Given the description of an element on the screen output the (x, y) to click on. 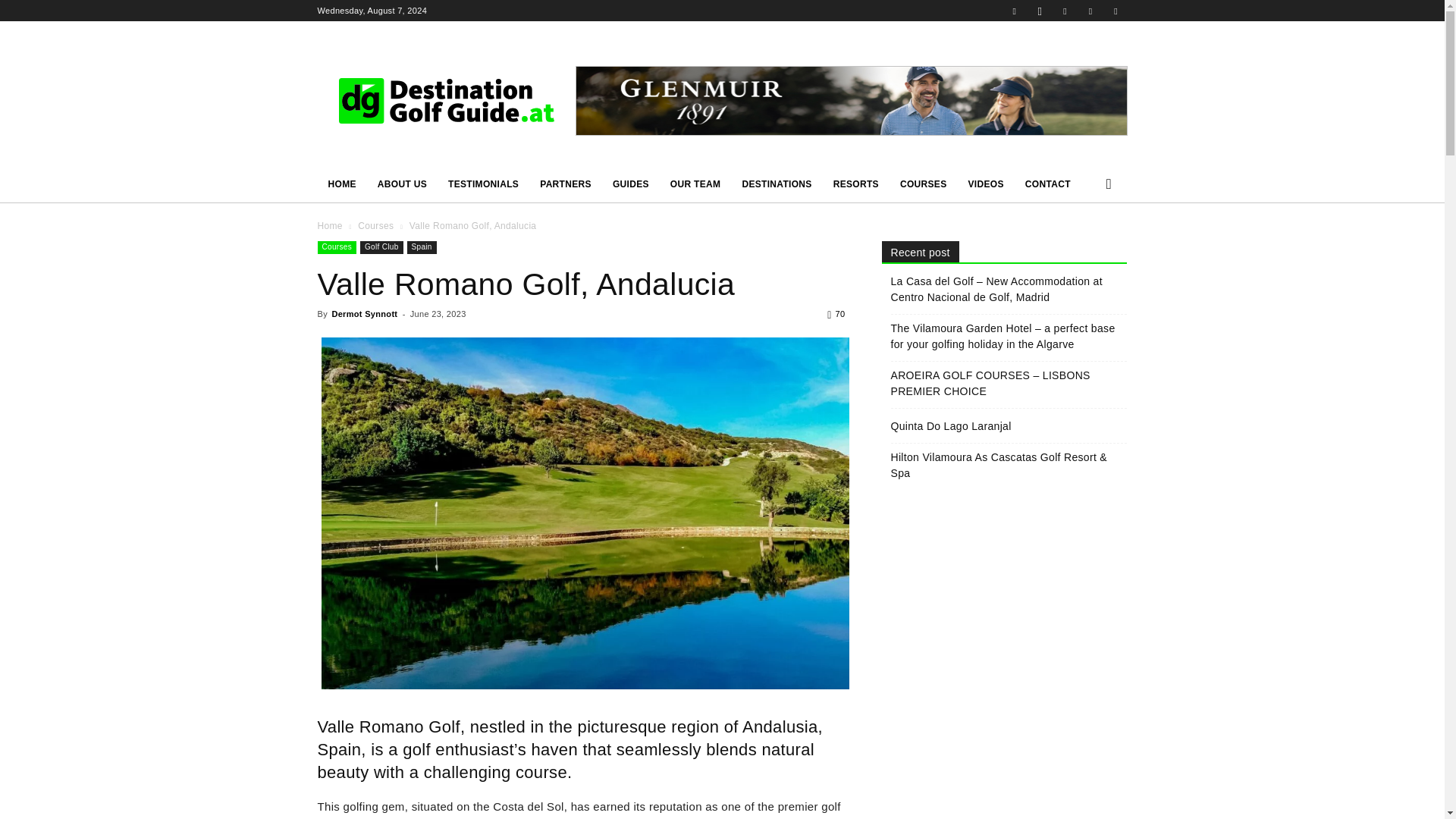
Twitter (1090, 10)
Facebook (1014, 10)
Instagram (1039, 10)
TESTIMONIALS (483, 184)
View all posts in Courses (375, 225)
GUIDES (630, 184)
ABOUT US (402, 184)
Linkedin (1065, 10)
Youtube (1114, 10)
HOME (341, 184)
